Given the description of an element on the screen output the (x, y) to click on. 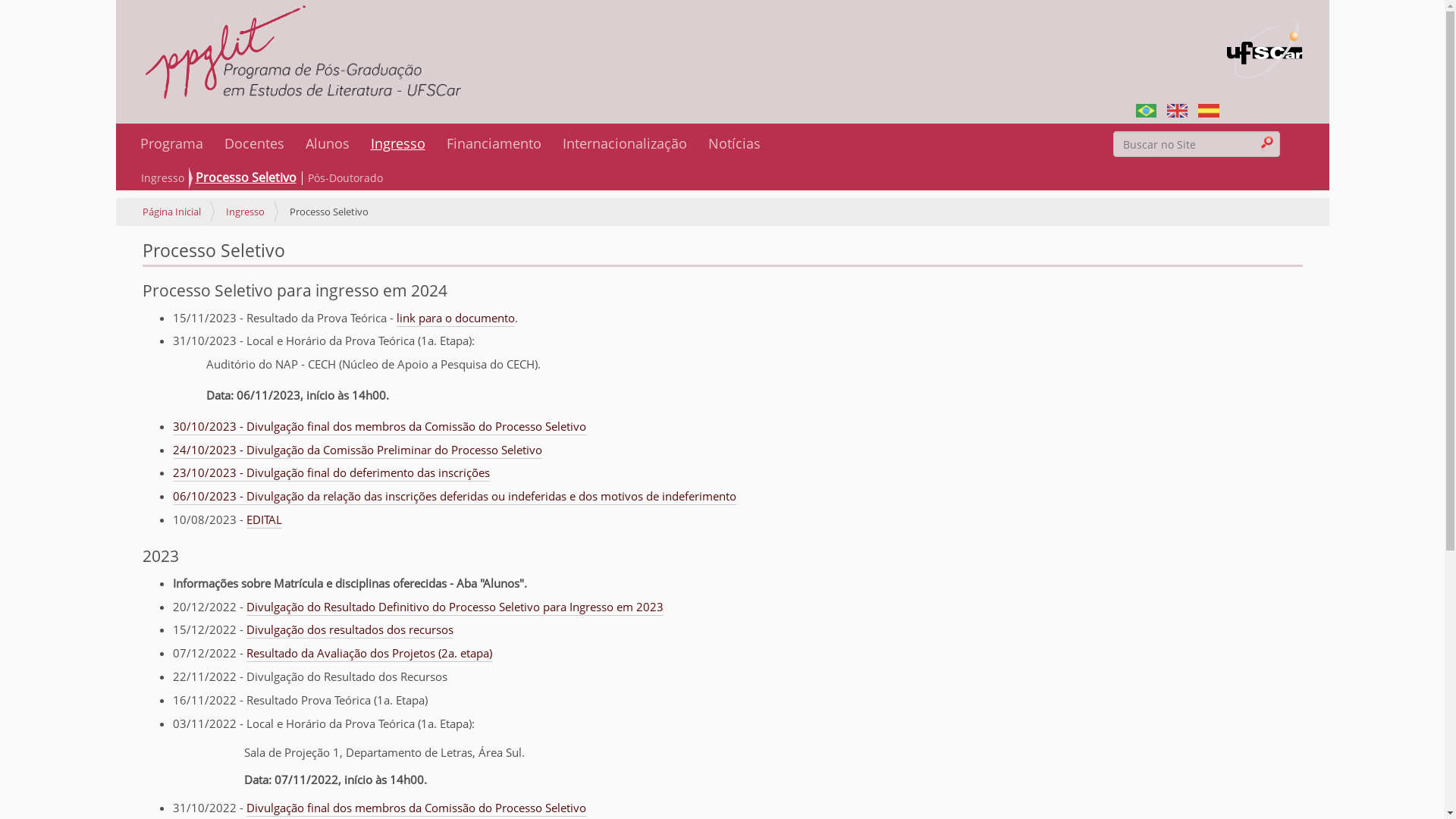
Processo Seletivo Element type: text (246, 178)
Buscar no Site Element type: hover (1196, 143)
EDITAL Element type: text (263, 519)
Financiamento Element type: text (492, 143)
English Element type: hover (1177, 109)
Alunos Element type: text (326, 143)
Programa Element type: text (170, 143)
Ingresso Element type: text (244, 211)
Portal UFSCar Element type: hover (1264, 42)
Docentes Element type: text (254, 143)
link para o documento Element type: text (454, 318)
Ingresso Element type: text (397, 143)
English Element type: hover (1177, 110)
Ingresso Element type: text (163, 178)
